Given the description of an element on the screen output the (x, y) to click on. 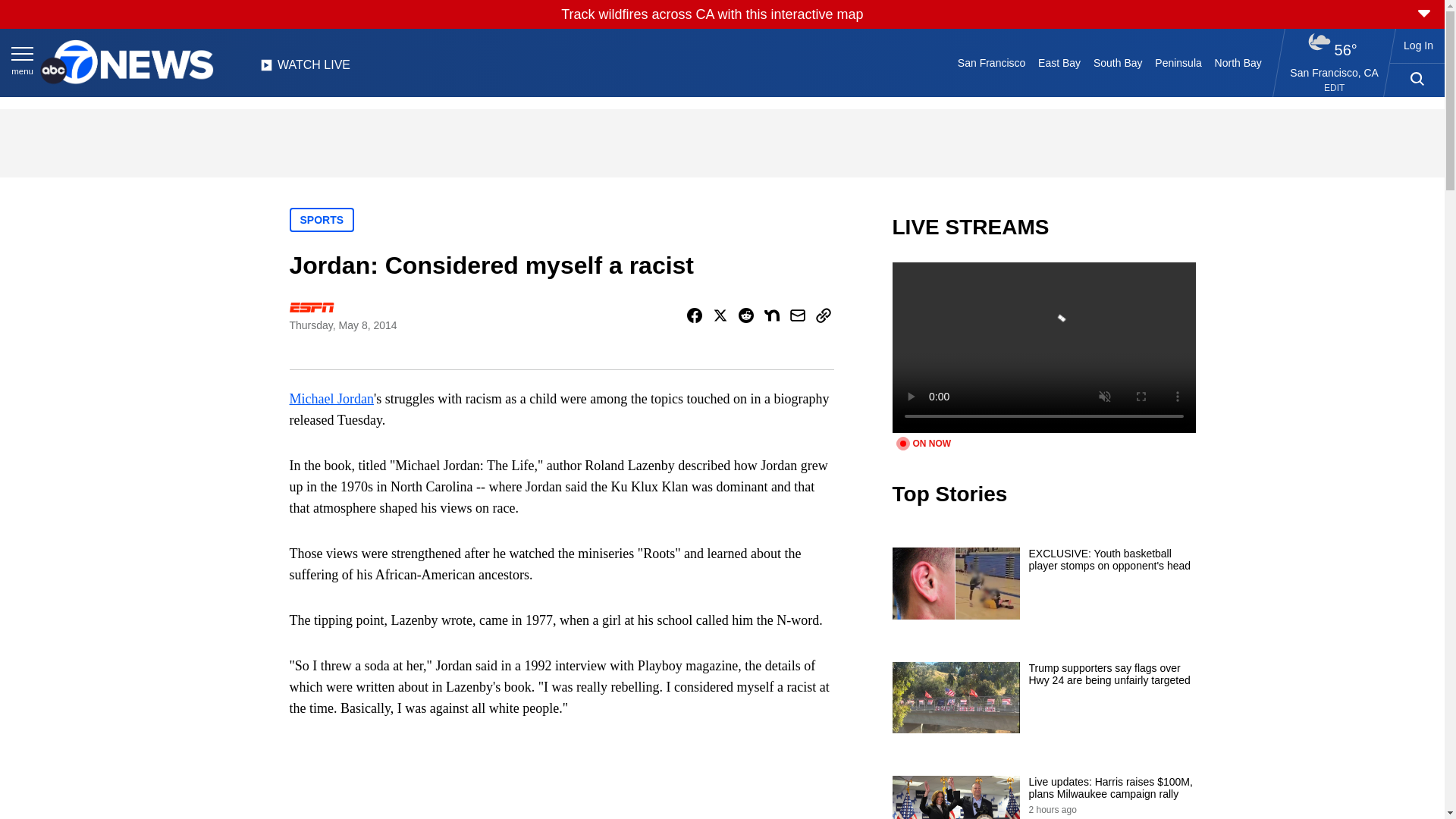
WATCH LIVE (305, 69)
San Francisco, CA (1334, 72)
East Bay (1059, 62)
Peninsula (1178, 62)
South Bay (1117, 62)
San Francisco (990, 62)
EDIT (1333, 87)
North Bay (1238, 62)
video.title (1043, 347)
